Given the description of an element on the screen output the (x, y) to click on. 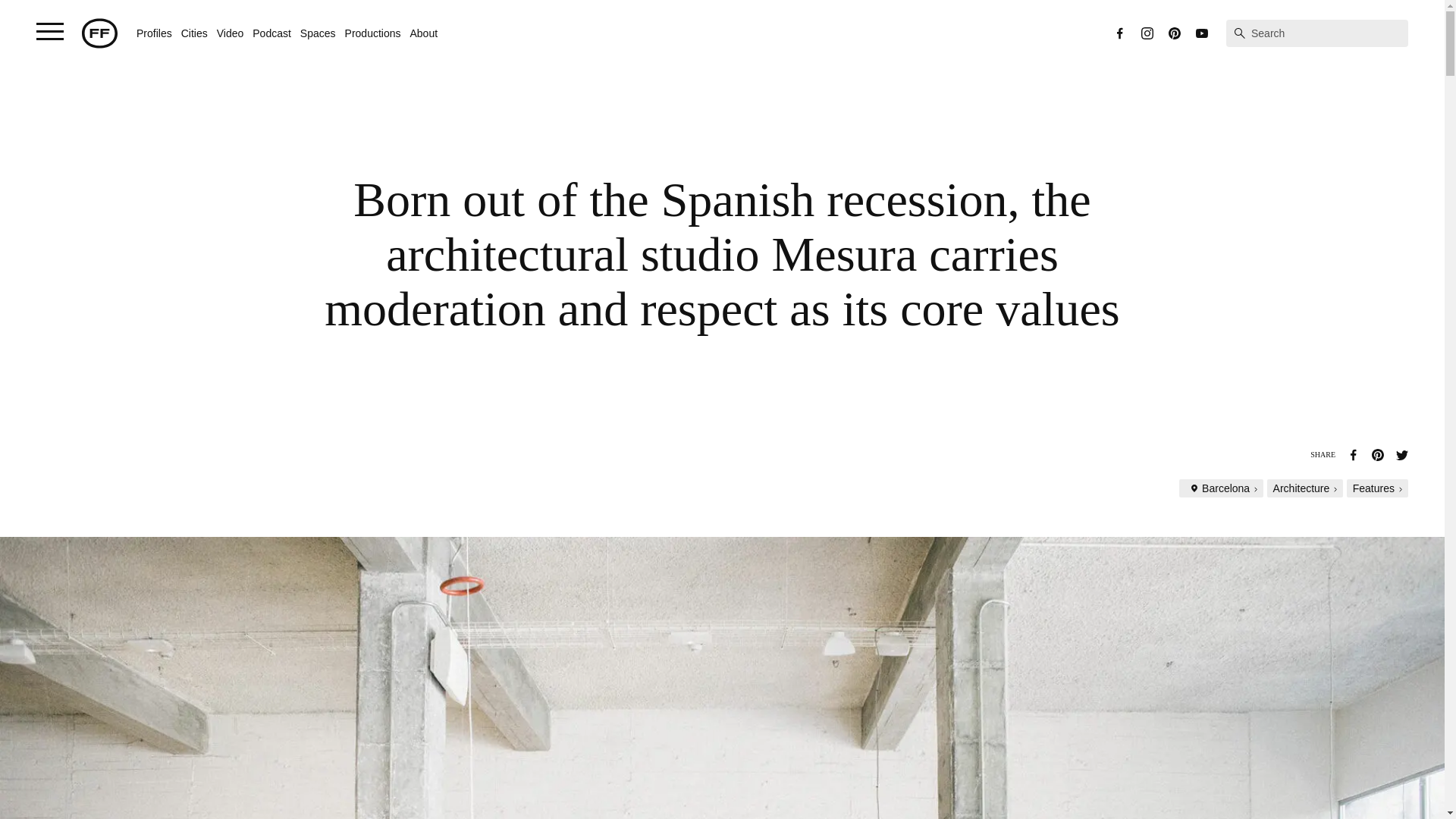
Pinterest (1174, 33)
Profiles (153, 33)
Cities (194, 33)
Instagram (1147, 33)
Facebook (1119, 33)
Productions (373, 33)
Spaces (317, 33)
Video (230, 33)
YouTube (1201, 33)
About (423, 33)
Podcast (271, 33)
